Given the description of an element on the screen output the (x, y) to click on. 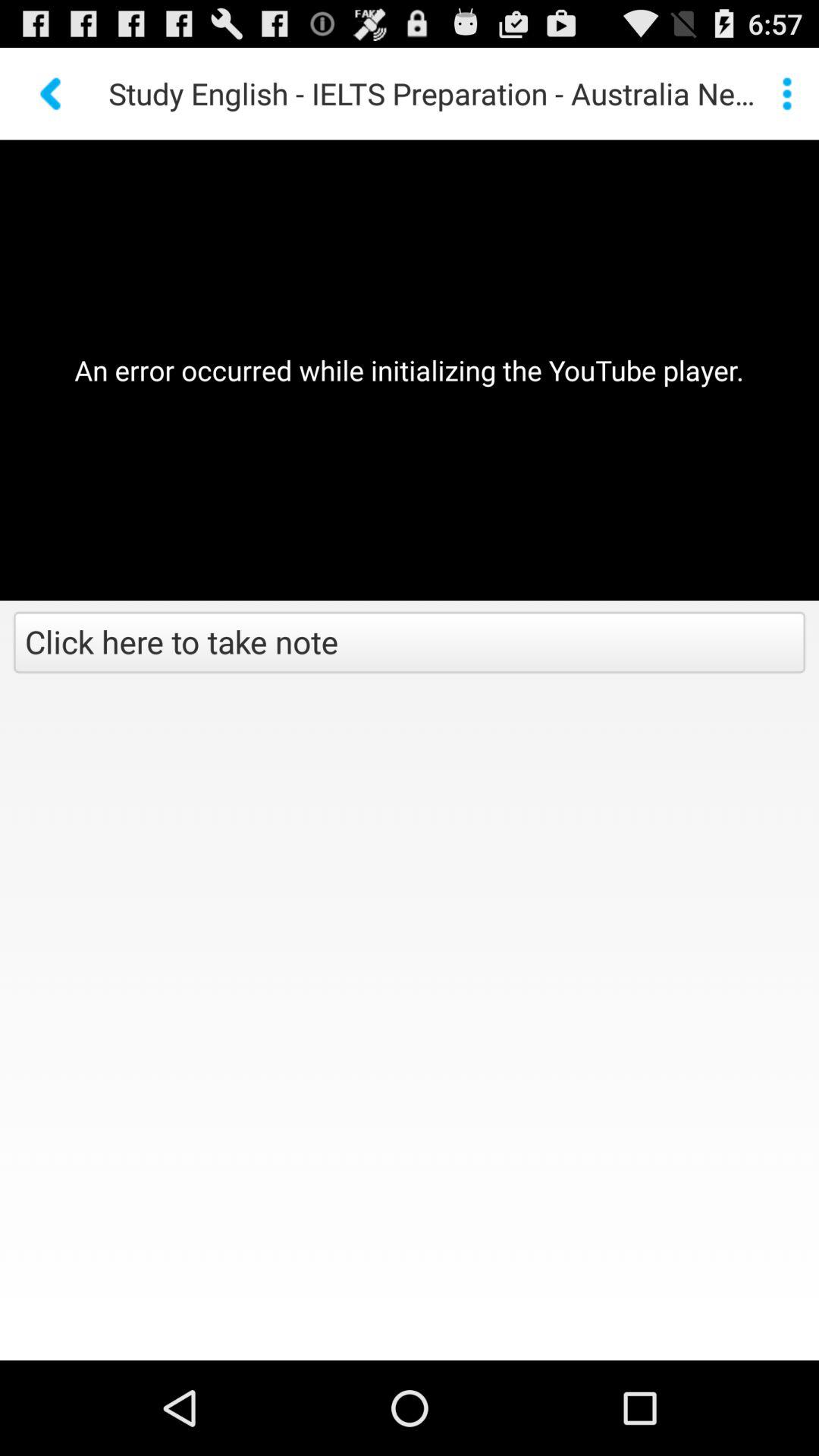
turn on icon below the an error occurred icon (409, 643)
